Given the description of an element on the screen output the (x, y) to click on. 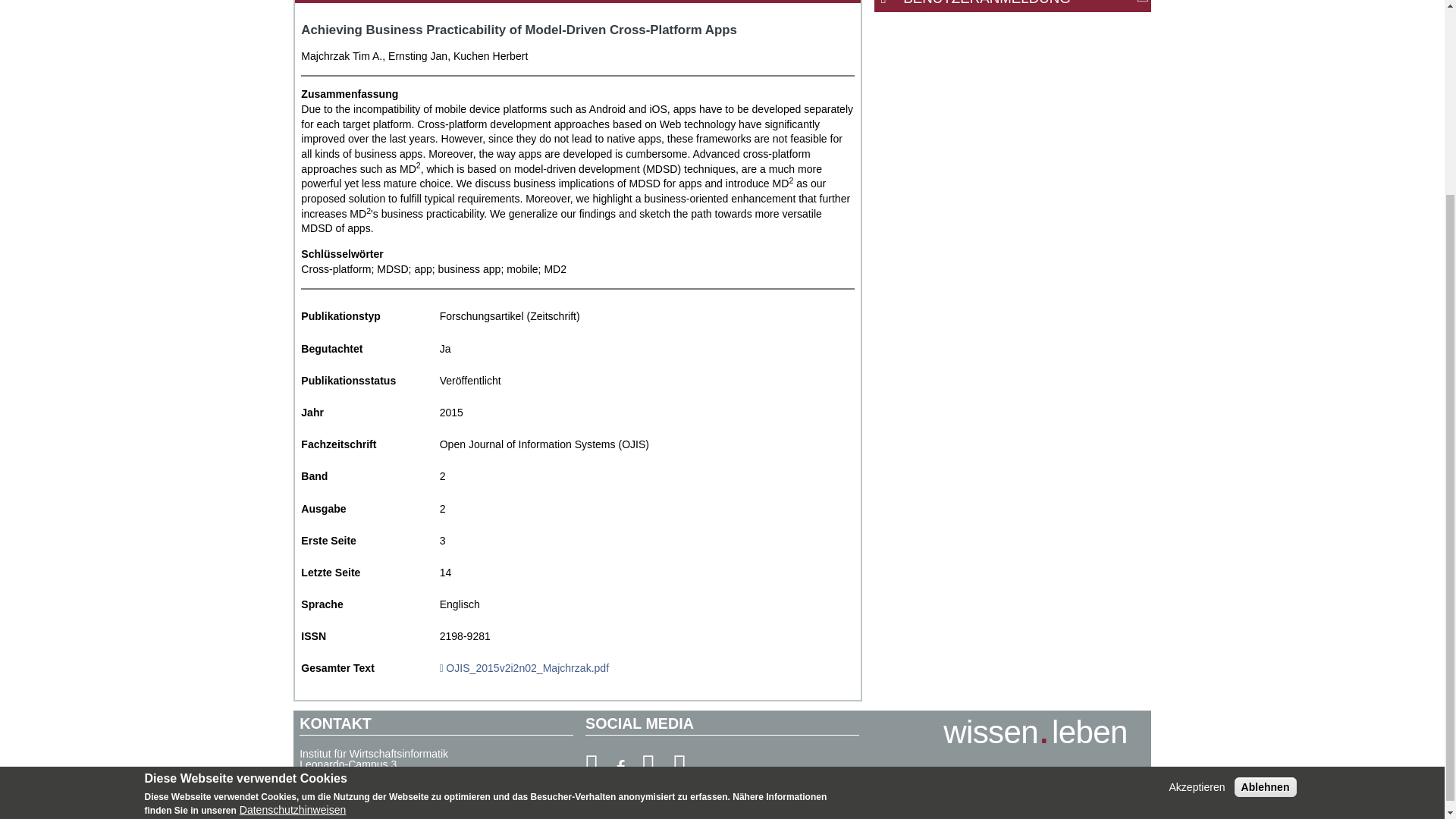
BENUTZERANMELDUNG (1021, 4)
Leonardo-Campus 3 (347, 764)
Facebook (619, 766)
Youtube (591, 766)
Instagram (649, 766)
wissen. leben (1034, 739)
LinkedIn (679, 766)
